Given the description of an element on the screen output the (x, y) to click on. 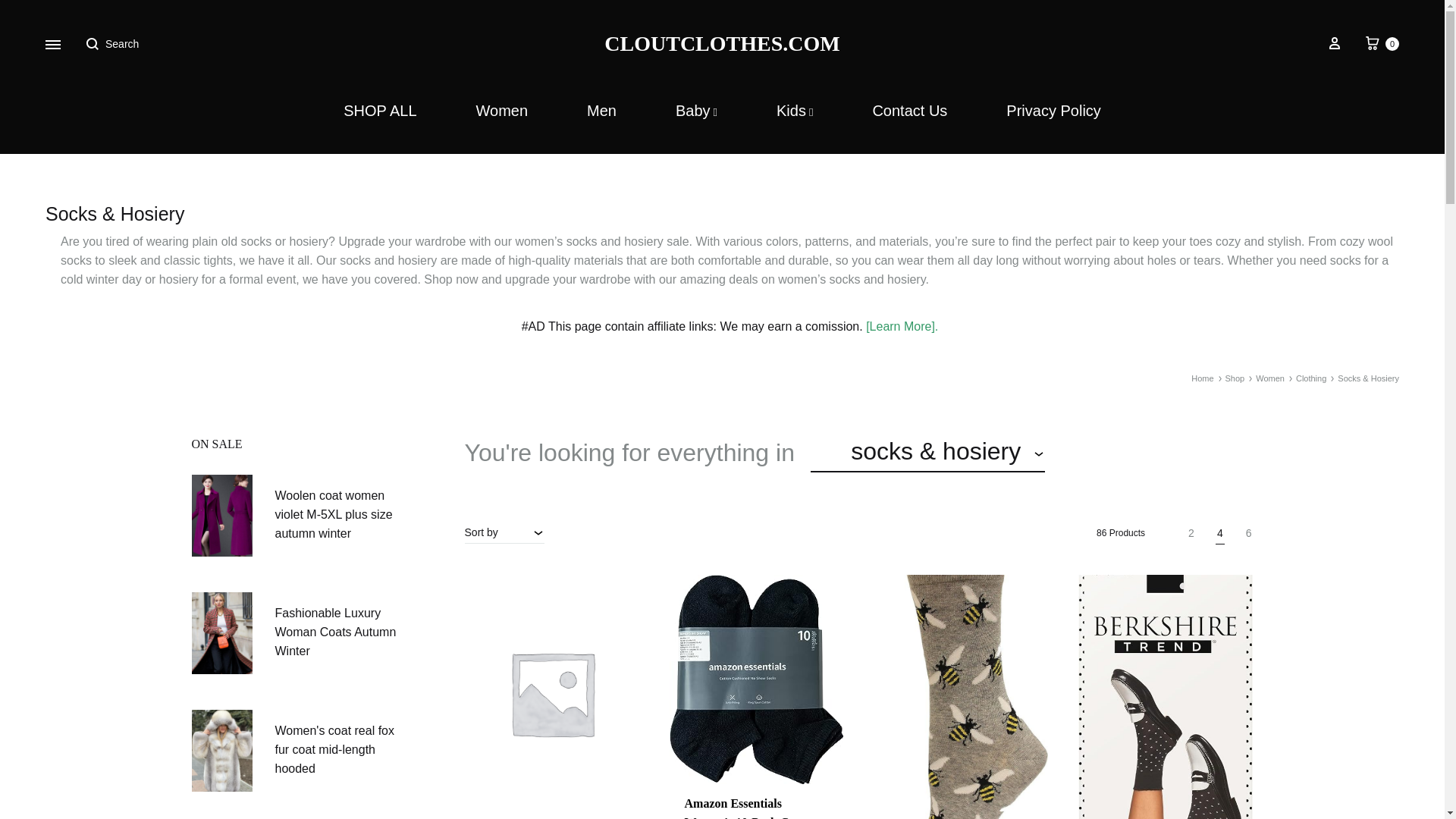
Sort by (504, 532)
Men (600, 110)
Women (1269, 378)
Sign in (1333, 43)
Privacy Policy (1053, 110)
search (1104, 453)
Shop (1234, 378)
CLOUTCLOTHES.COM (722, 43)
Contact Us (909, 110)
Clothing (1380, 43)
SHOP ALL (1310, 378)
Baby (379, 110)
Women (696, 110)
Kids (502, 110)
